Given the description of an element on the screen output the (x, y) to click on. 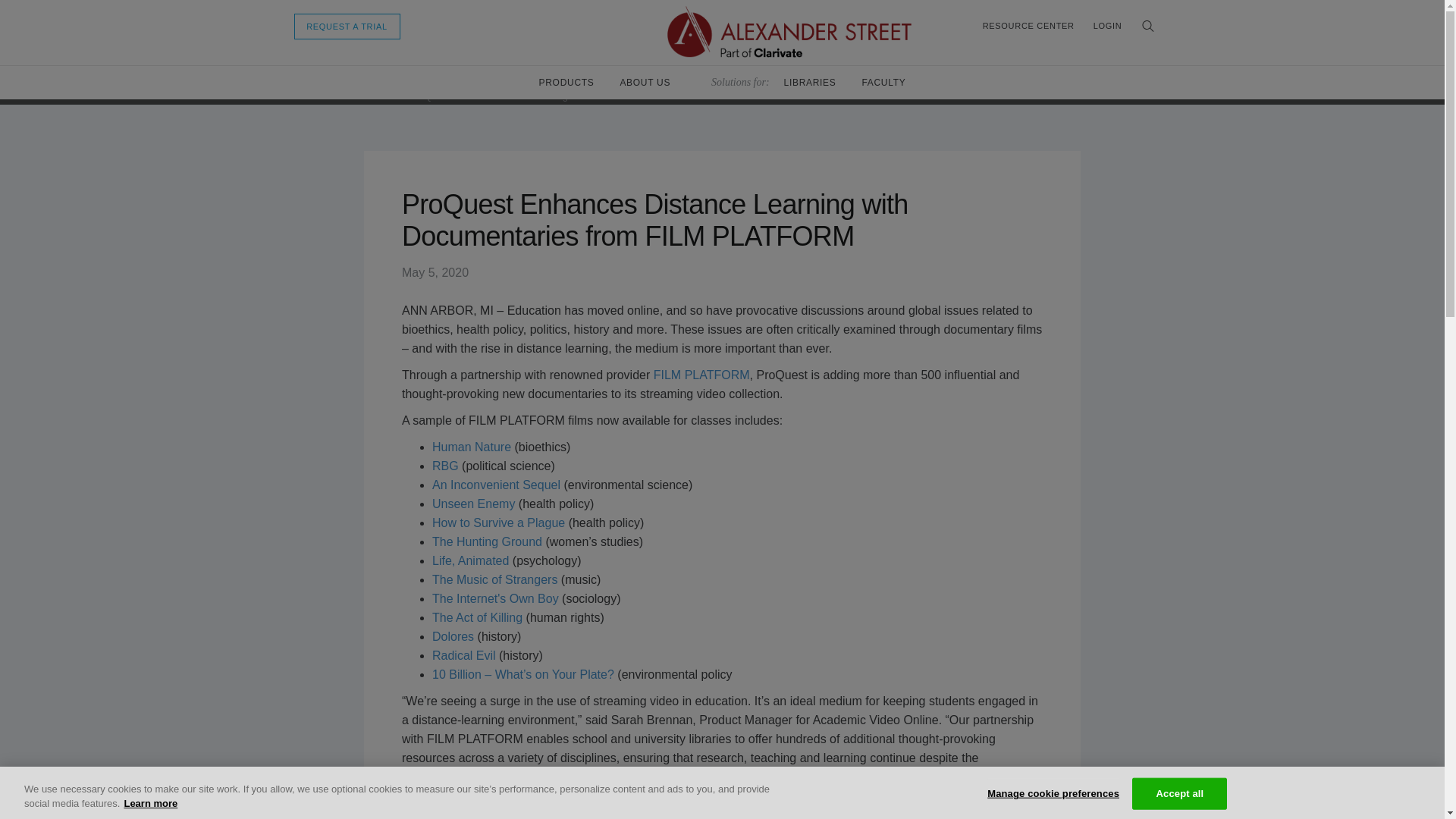
LIBRARIES (810, 82)
About (301, 95)
LOGIN (1107, 25)
PRODUCTS (566, 82)
REQUEST A TRIAL (347, 26)
An Inconvenient Sequel (496, 484)
Human Nature (471, 446)
RESOURCE CENTER (1028, 25)
ABOUT US (644, 82)
RBG (445, 465)
Unseen Enemy (473, 503)
FACULTY (883, 82)
FILM PLATFORM (701, 374)
